Given the description of an element on the screen output the (x, y) to click on. 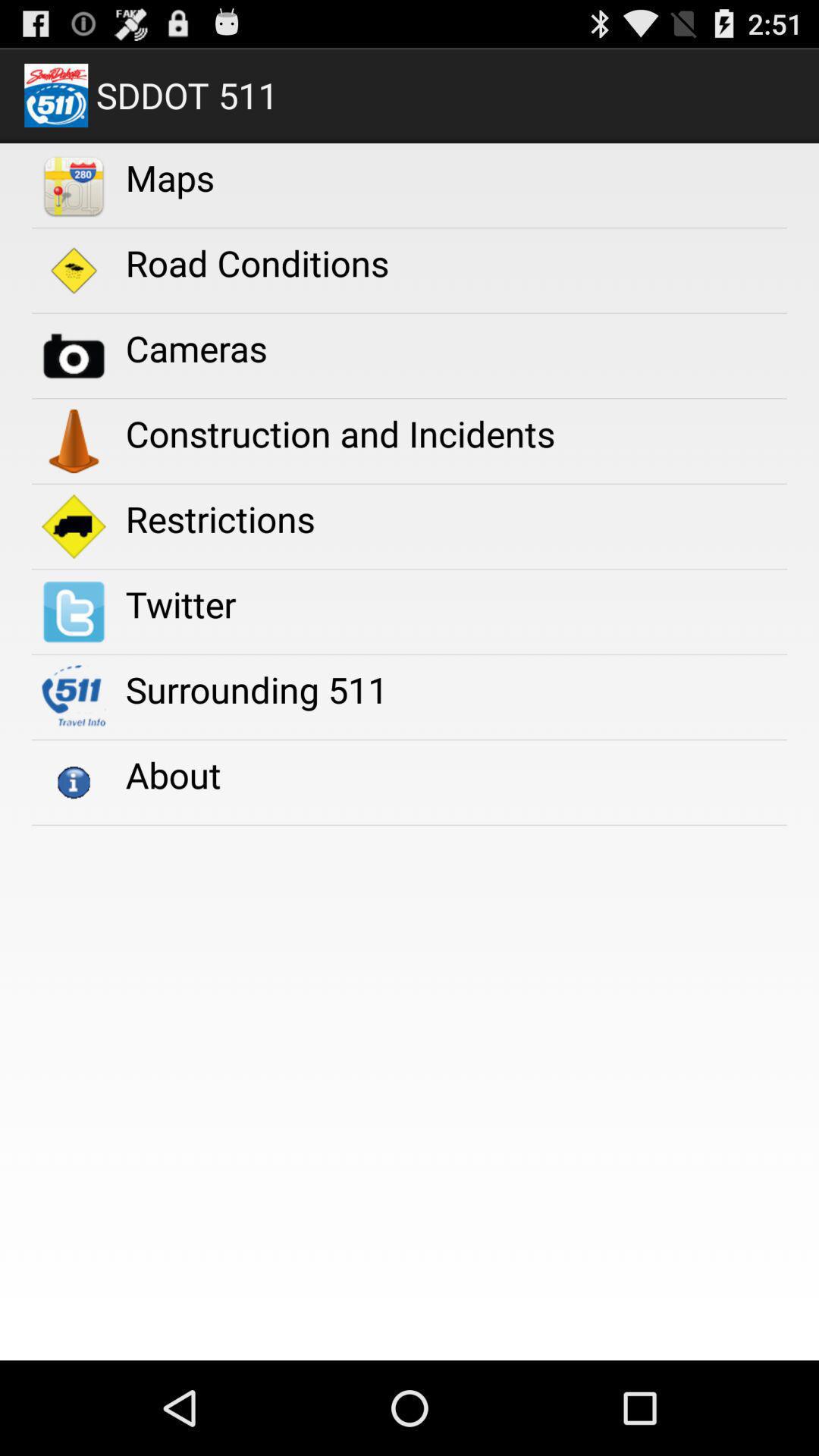
swipe until the about (173, 774)
